Given the description of an element on the screen output the (x, y) to click on. 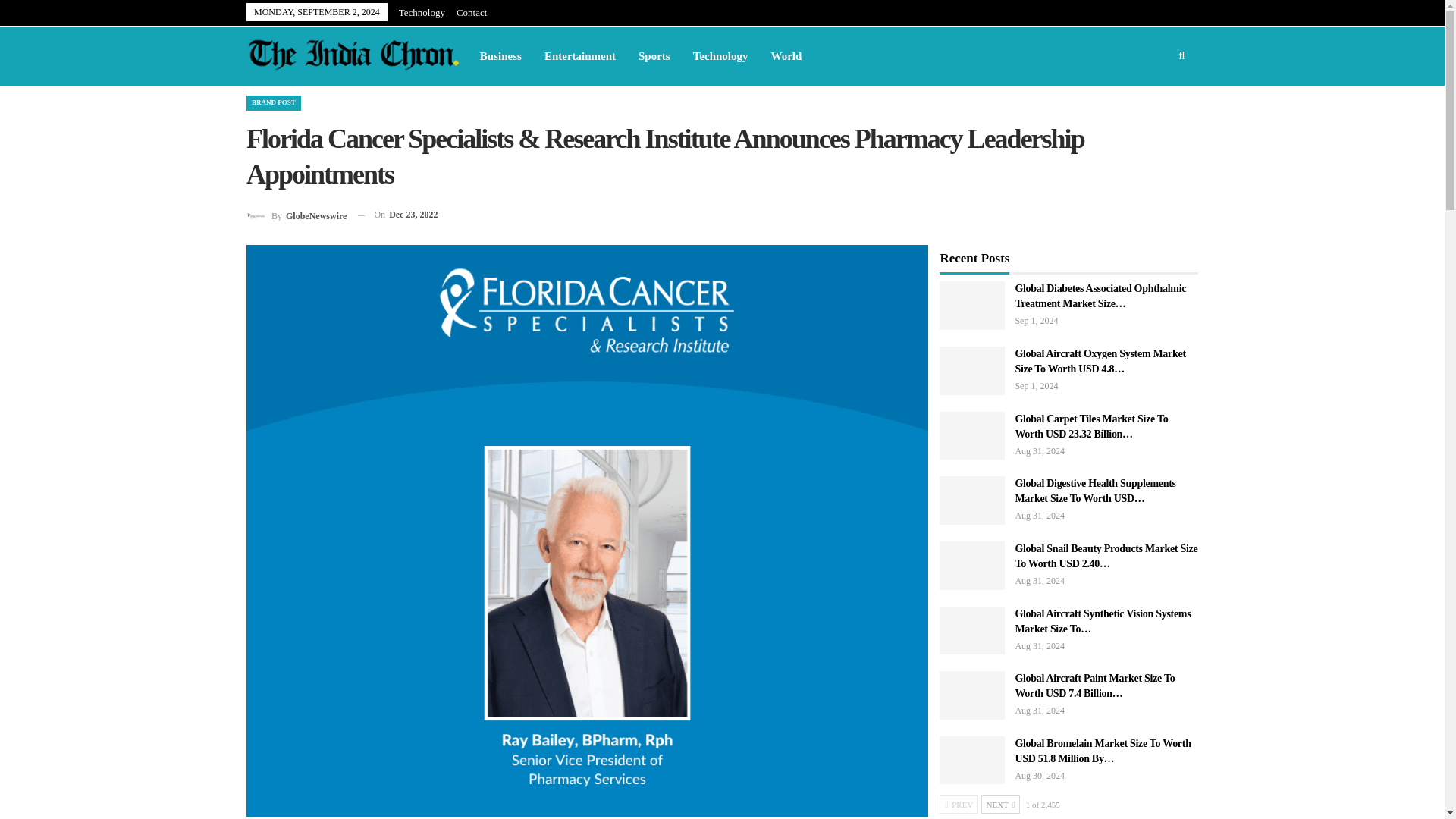
Browse Author Articles (296, 214)
Entertainment (579, 55)
Technology (720, 55)
Business (500, 55)
Sports (654, 55)
By GlobeNewswire (296, 214)
World (786, 55)
Contact (471, 12)
BRAND POST (273, 102)
Technology (421, 12)
